Given the description of an element on the screen output the (x, y) to click on. 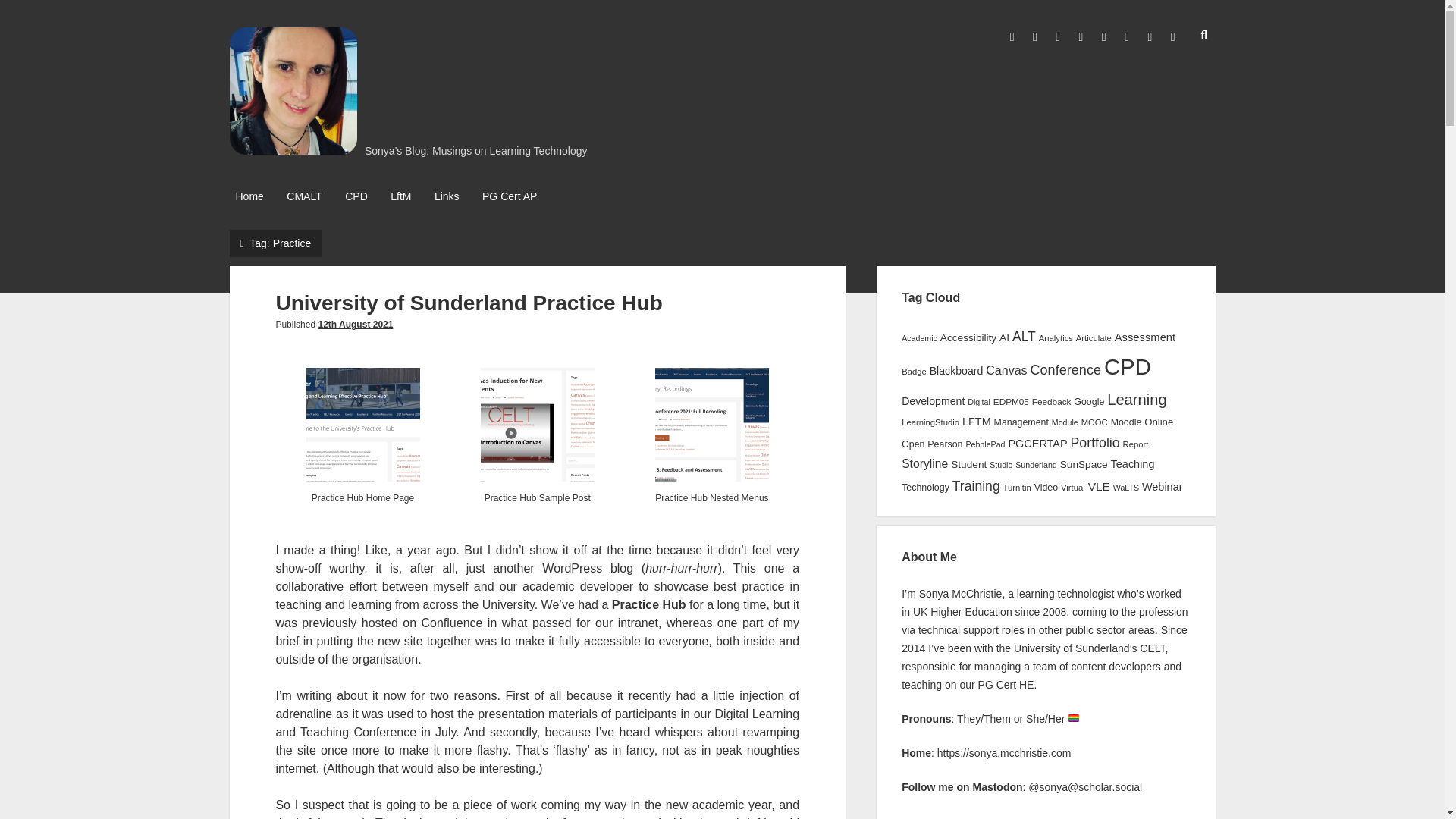
LftM (400, 197)
University of Sunderland Practice Hub (468, 302)
Links (446, 197)
12th August 2021 (355, 324)
CMALT (304, 197)
Sonya's Blog (292, 149)
Home (248, 197)
PG Cert AP (509, 197)
CPD (356, 197)
Practice Hub (648, 604)
